Given the description of an element on the screen output the (x, y) to click on. 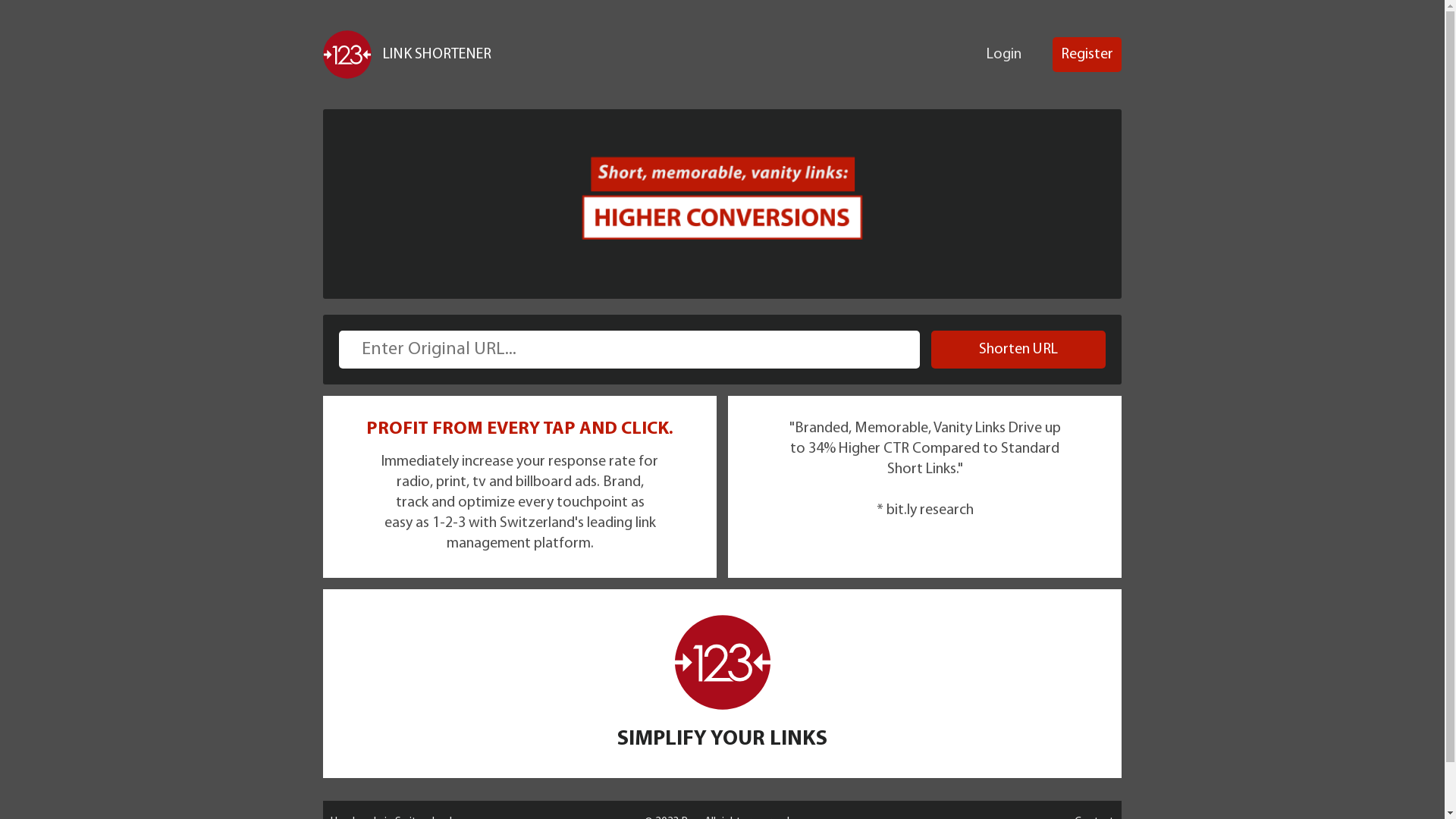
Register Element type: text (1086, 54)
Shorten URL Element type: text (1018, 349)
Login Element type: text (1003, 54)
